Given the description of an element on the screen output the (x, y) to click on. 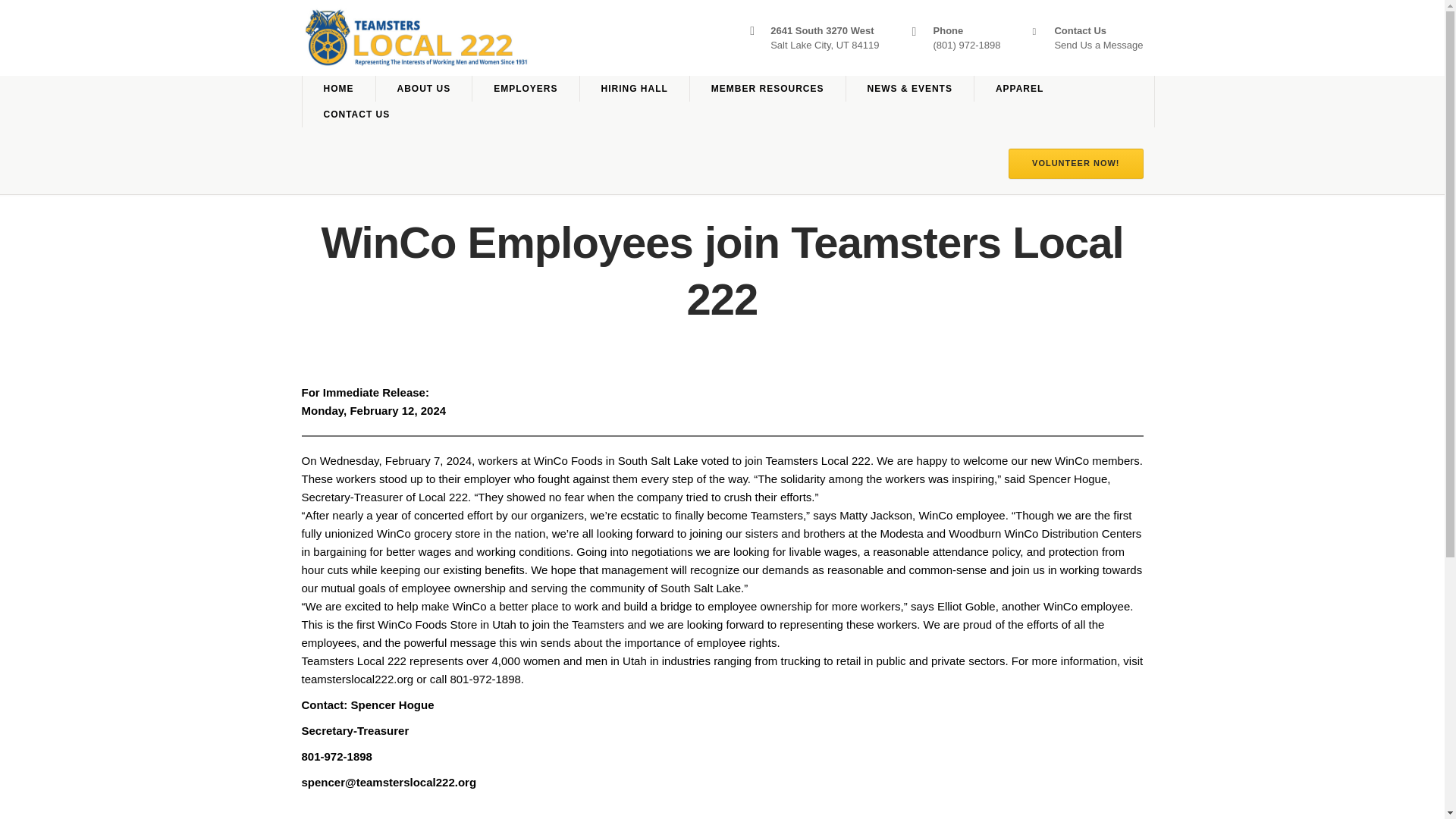
APPAREL (1019, 88)
Send Us a Message (1098, 44)
Teamsters Local 222 (618, 36)
HIRING HALL (633, 88)
ABOUT US (422, 88)
CONTACT US (356, 114)
EMPLOYERS (524, 88)
HOME (338, 88)
MEMBER RESOURCES (766, 88)
VOLUNTEER NOW! (1075, 163)
